Given the description of an element on the screen output the (x, y) to click on. 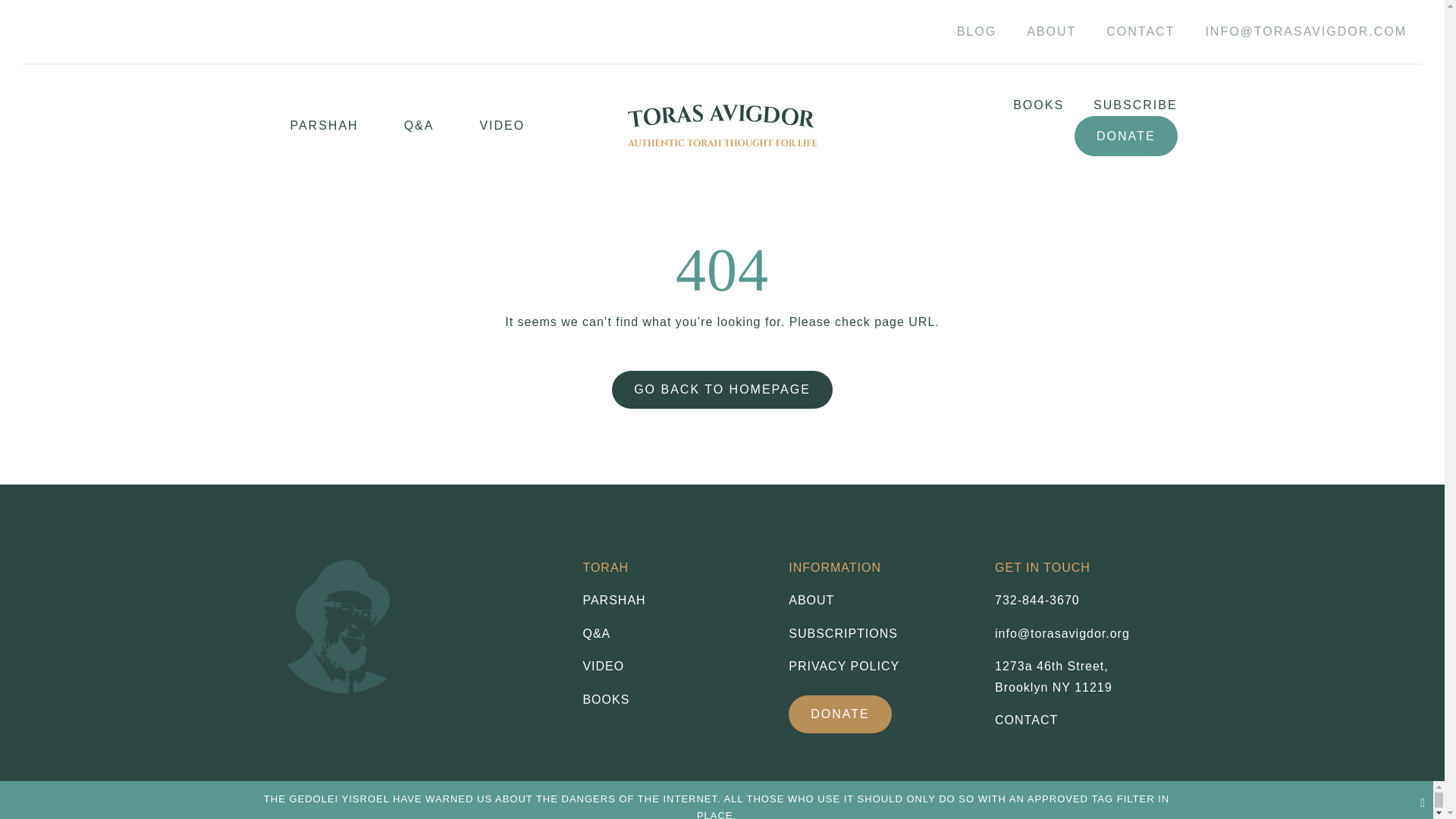
CONTACT (1026, 719)
DONATE (1053, 676)
BOOKS (1125, 136)
DONATE (1024, 105)
ABOUT (840, 714)
SUBSCRIPTIONS (880, 599)
732-844-3670 (880, 633)
CONTACT (1037, 599)
BOOKS (1139, 31)
